Given the description of an element on the screen output the (x, y) to click on. 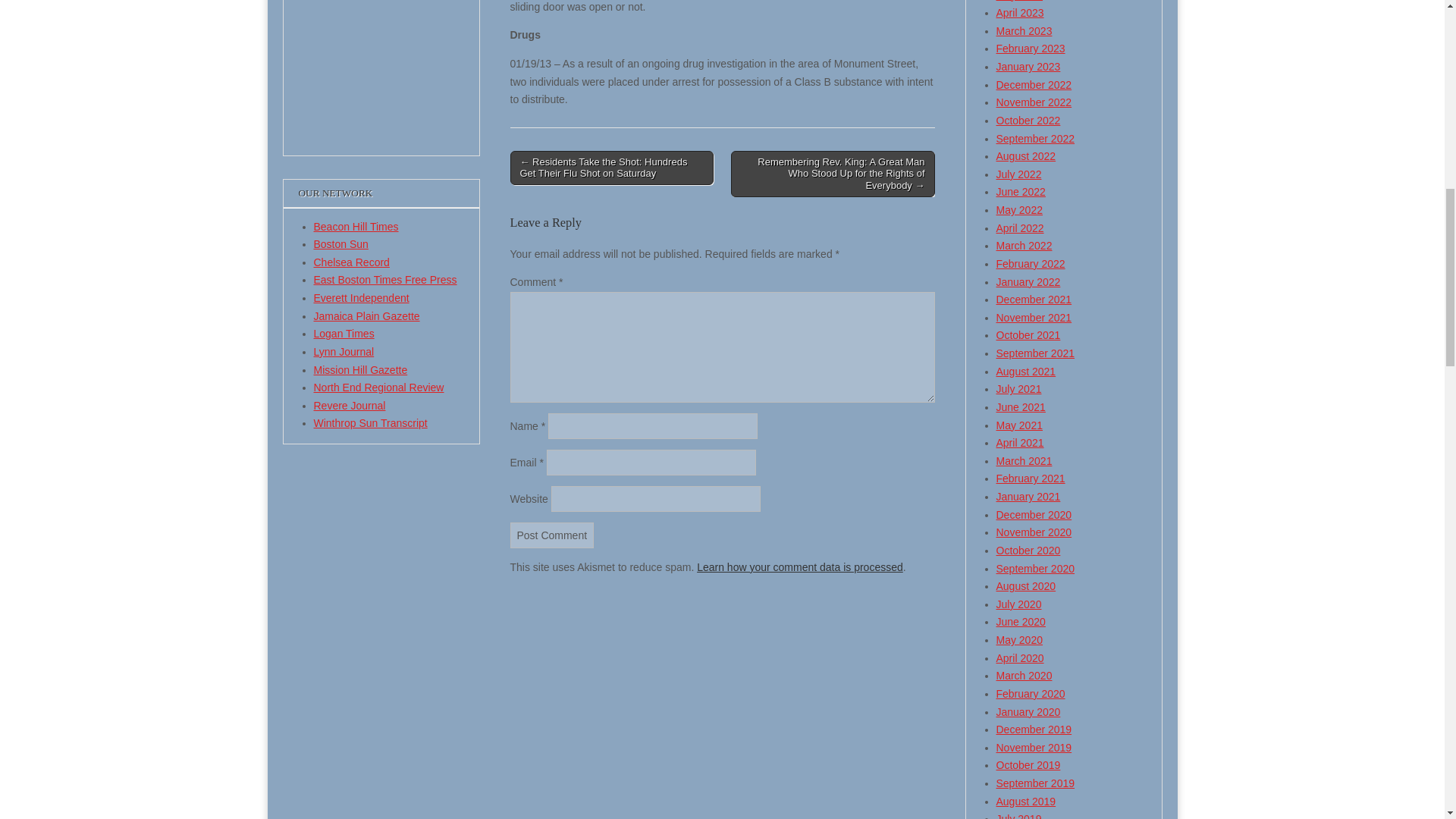
Winthrop Sun Transcript (371, 422)
Post Comment (551, 534)
Learn how your comment data is processed (799, 567)
Lynn Journal (344, 351)
Post Comment (551, 534)
Boston Sun (341, 244)
Logan Times (344, 333)
North End Regional Review (379, 387)
Beacon Hill Times (356, 226)
Revere Journal (349, 405)
Jamaica Plain Gazette (367, 316)
Everett Independent (361, 297)
East Boston Times Free Press (385, 279)
Mission Hill Gazette (360, 369)
Chelsea Record (352, 262)
